Given the description of an element on the screen output the (x, y) to click on. 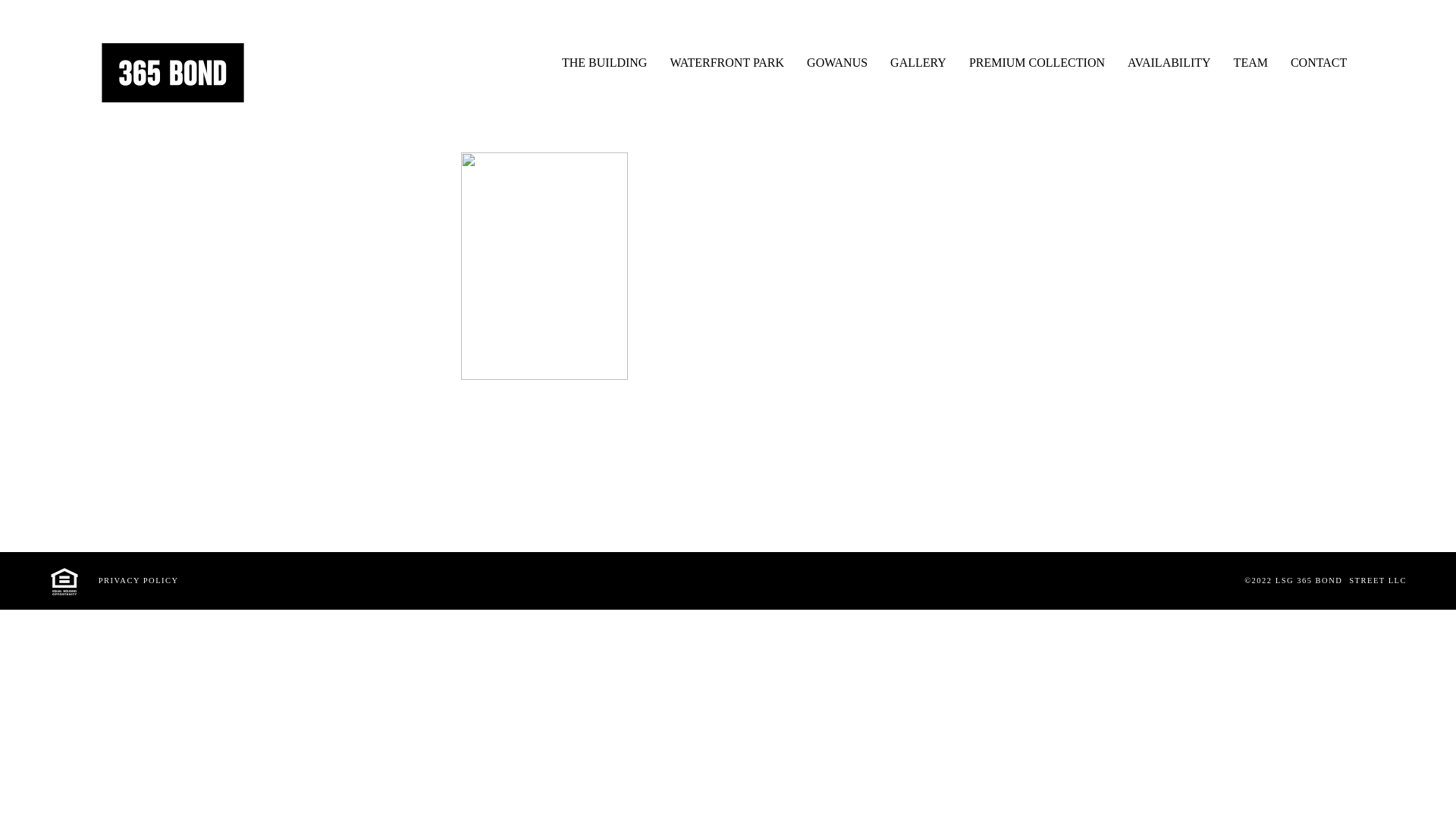
PREMIUM COLLECTION Element type: text (1036, 58)
AVAILABILITY Element type: text (1169, 58)
CONTACT Element type: text (1318, 58)
GALLERY Element type: text (918, 58)
WATERFRONT PARK Element type: text (726, 58)
THE BUILDING Element type: text (603, 58)
GOWANUS Element type: text (836, 58)
PRIVACY POLICY Element type: text (138, 580)
TEAM Element type: text (1250, 58)
